Given the description of an element on the screen output the (x, y) to click on. 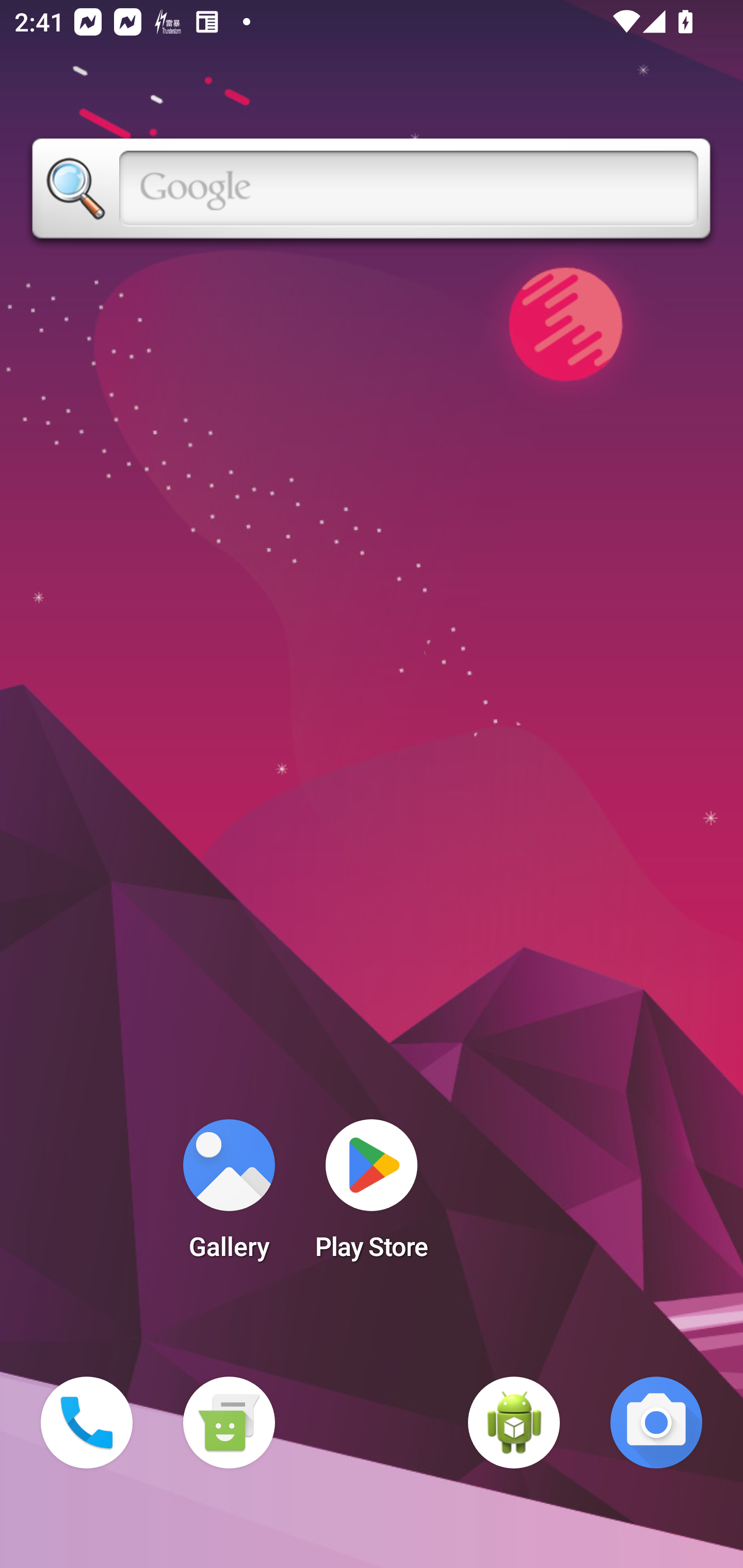
Gallery (228, 1195)
Play Store (371, 1195)
Phone (86, 1422)
Messaging (228, 1422)
WebView Browser Tester (513, 1422)
Camera (656, 1422)
